Given the description of an element on the screen output the (x, y) to click on. 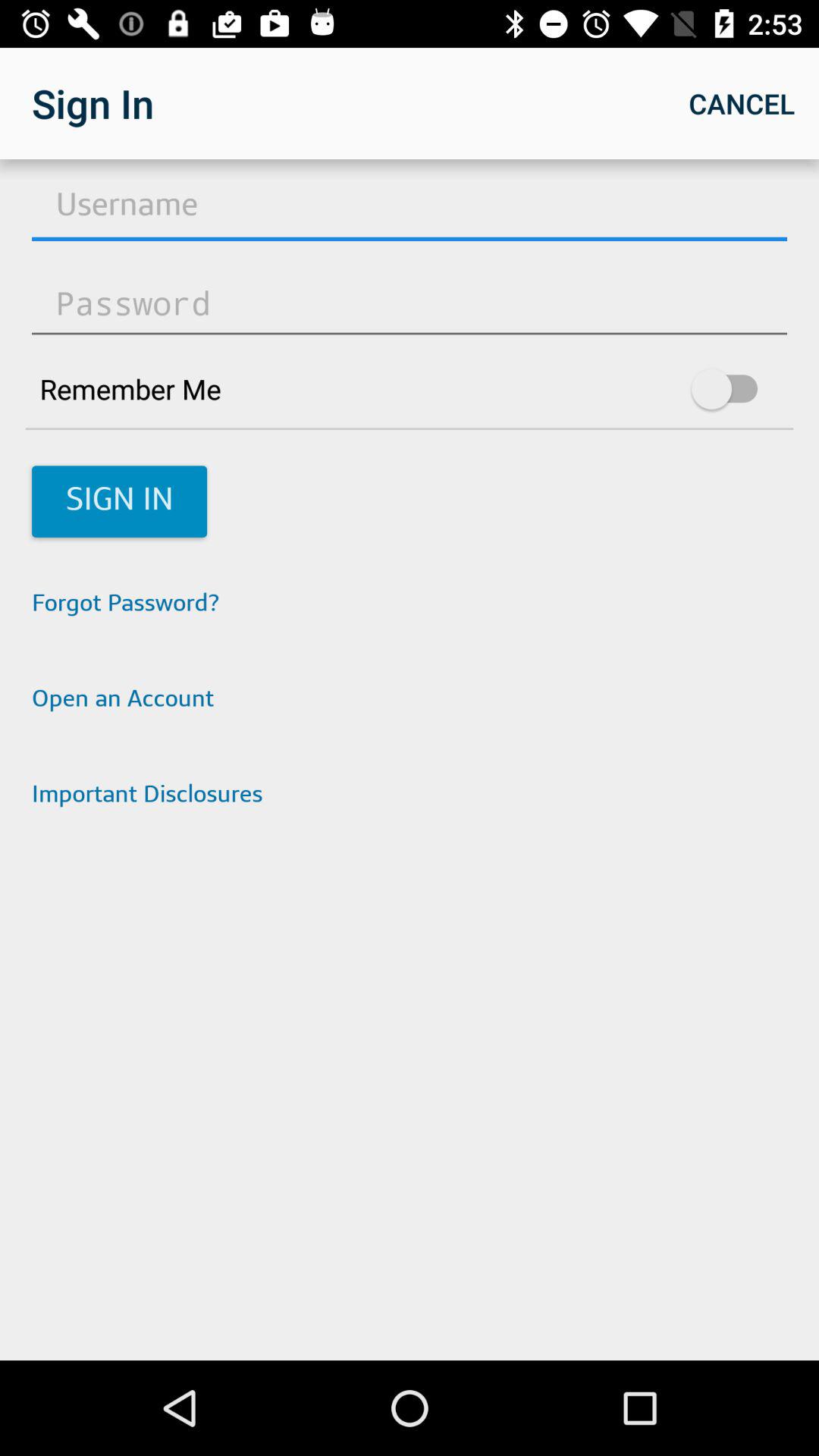
open the icon at the top right corner (741, 103)
